Given the description of an element on the screen output the (x, y) to click on. 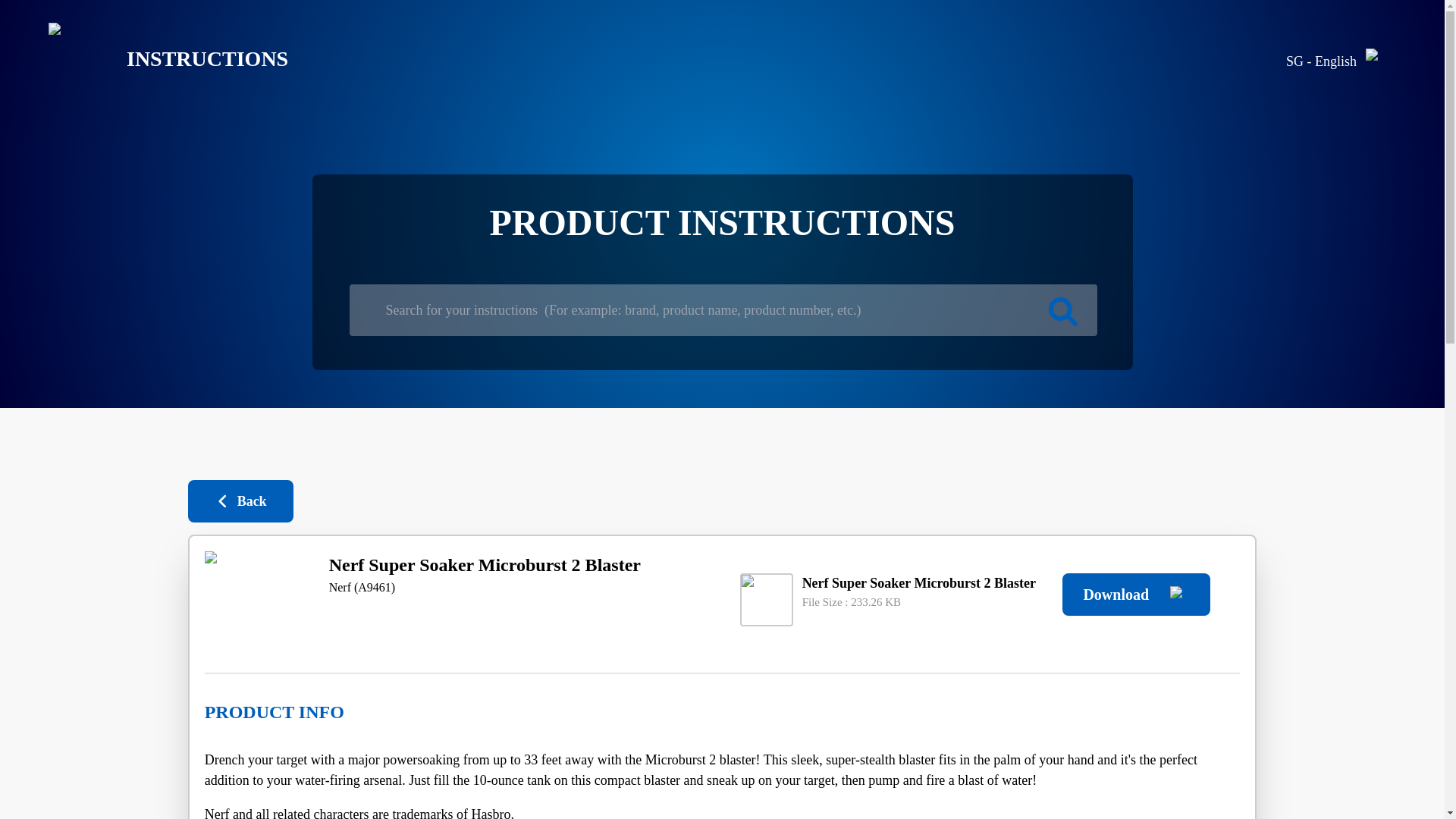
Back (240, 500)
Download (1135, 594)
INSTRUCTIONS (156, 59)
